Given the description of an element on the screen output the (x, y) to click on. 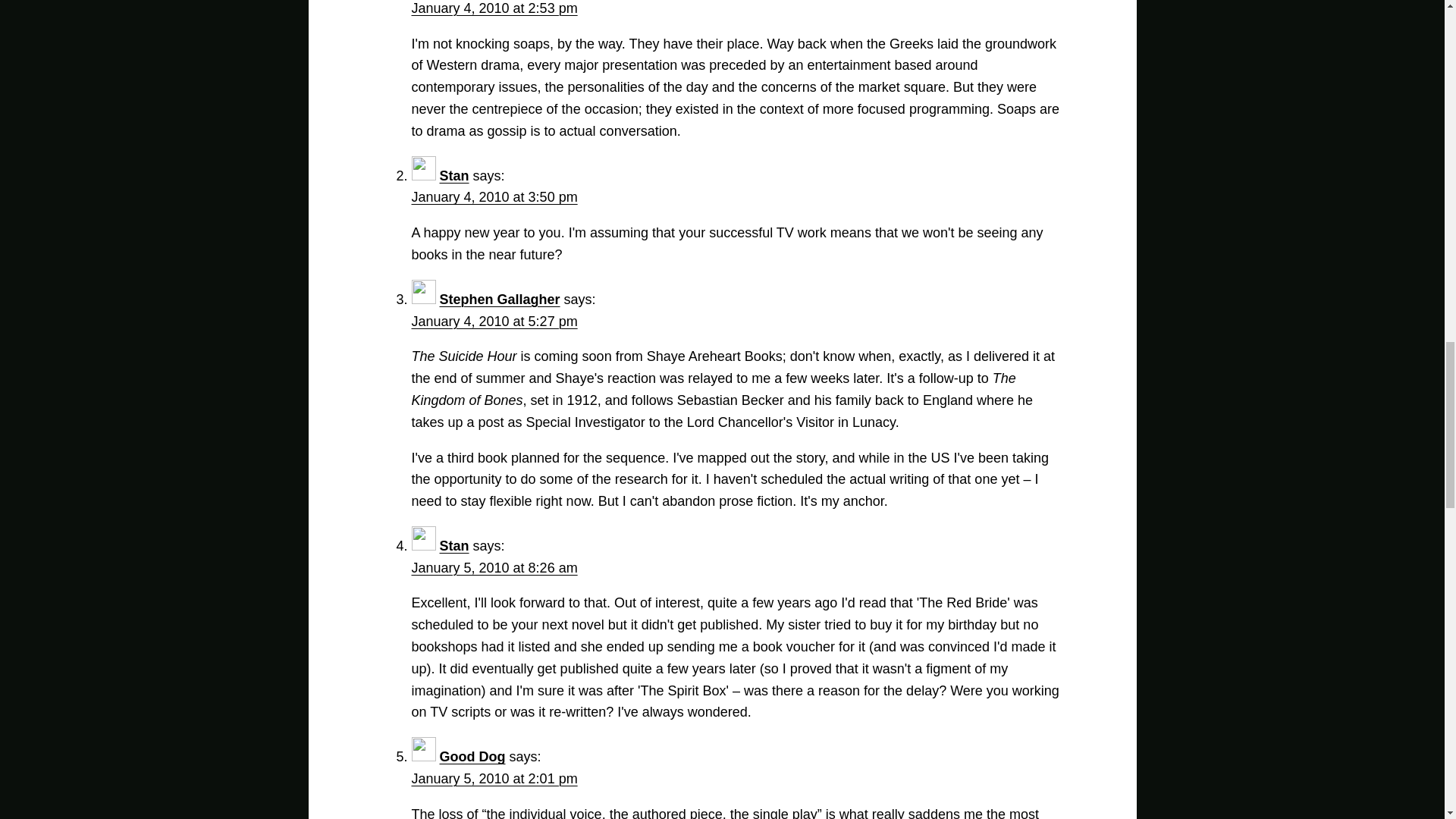
Stan (453, 175)
January 5, 2010 at 8:26 am (493, 567)
Good Dog (472, 756)
January 4, 2010 at 2:53 pm (493, 7)
January 4, 2010 at 5:27 pm (493, 321)
Stan (453, 545)
Stephen Gallagher (499, 299)
January 4, 2010 at 3:50 pm (493, 196)
January 5, 2010 at 2:01 pm (493, 778)
